Given the description of an element on the screen output the (x, y) to click on. 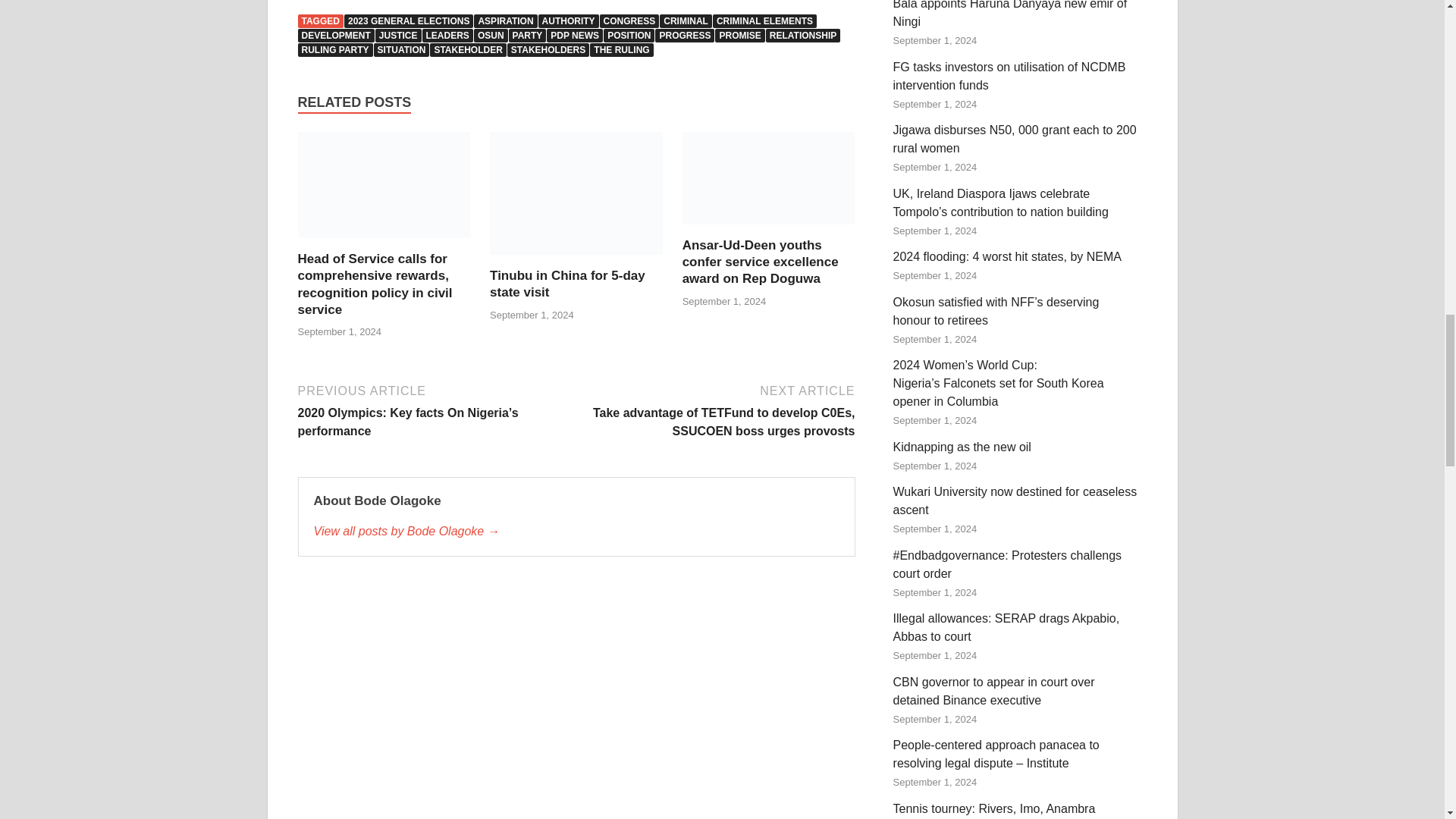
Bode Olagoke (577, 531)
